Given the description of an element on the screen output the (x, y) to click on. 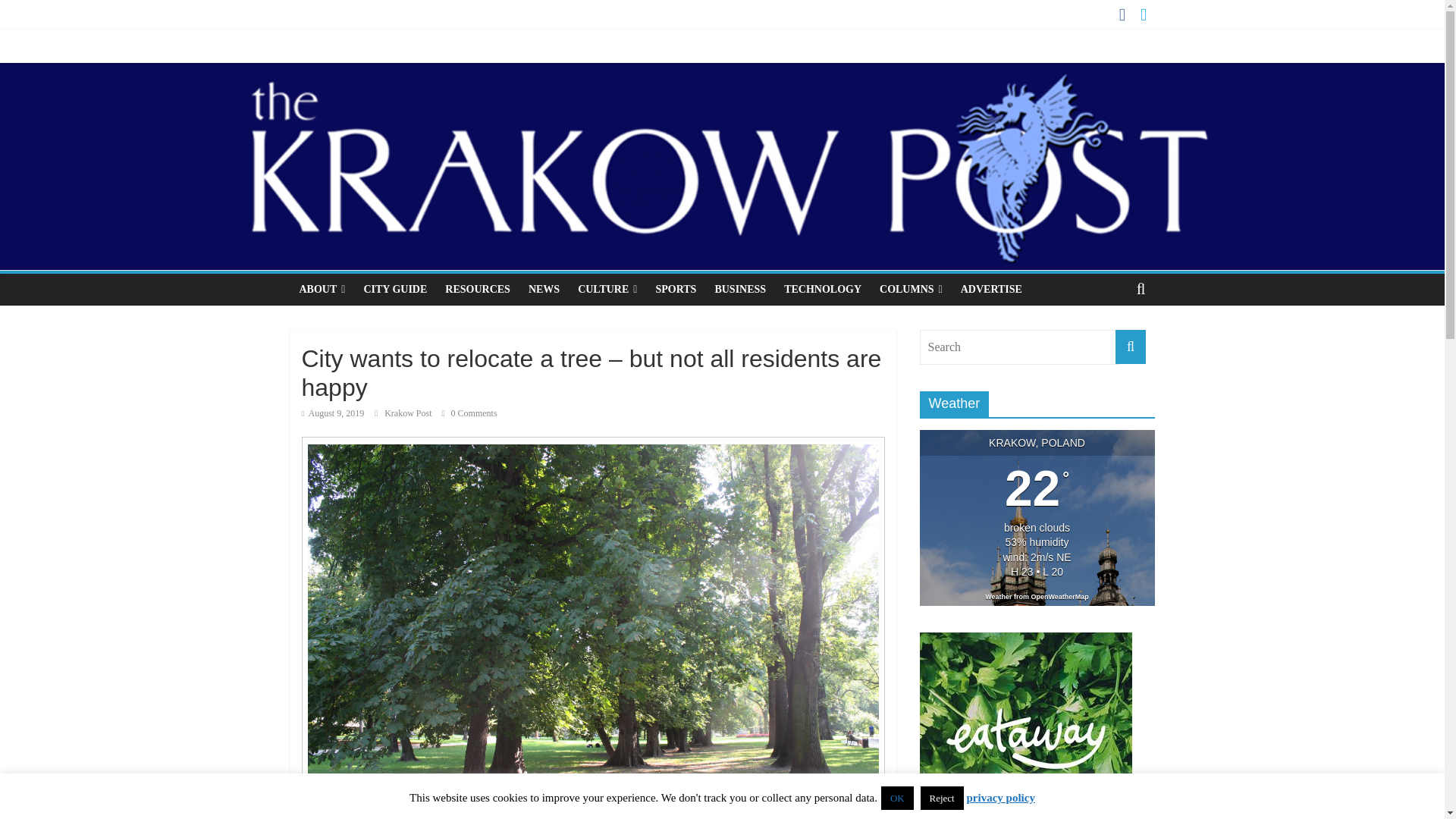
CITY GUIDE (394, 289)
ABOUT (321, 289)
RESOURCES (477, 289)
NEWS (544, 289)
Krakow Post (408, 412)
6:07 pm (333, 412)
TECHNOLOGY (822, 289)
BUSINESS (739, 289)
CULTURE (607, 289)
SPORTS (675, 289)
